Given the description of an element on the screen output the (x, y) to click on. 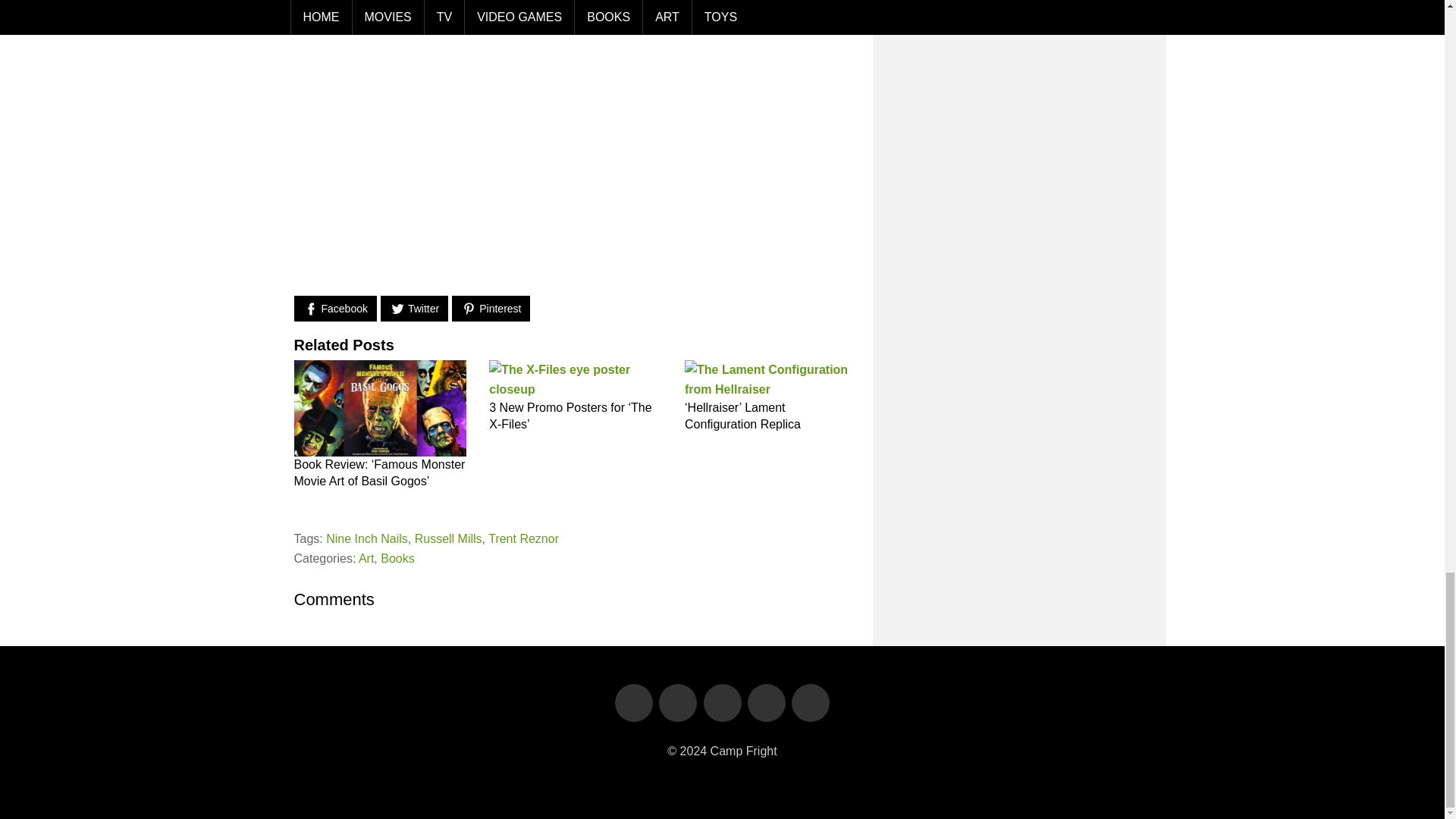
Pinterest (490, 308)
Art (366, 558)
Facebook (335, 308)
Trent Reznor (523, 538)
Twitter (414, 308)
Books (396, 558)
Nine Inch Nails (366, 538)
Russell Mills (447, 538)
